Given the description of an element on the screen output the (x, y) to click on. 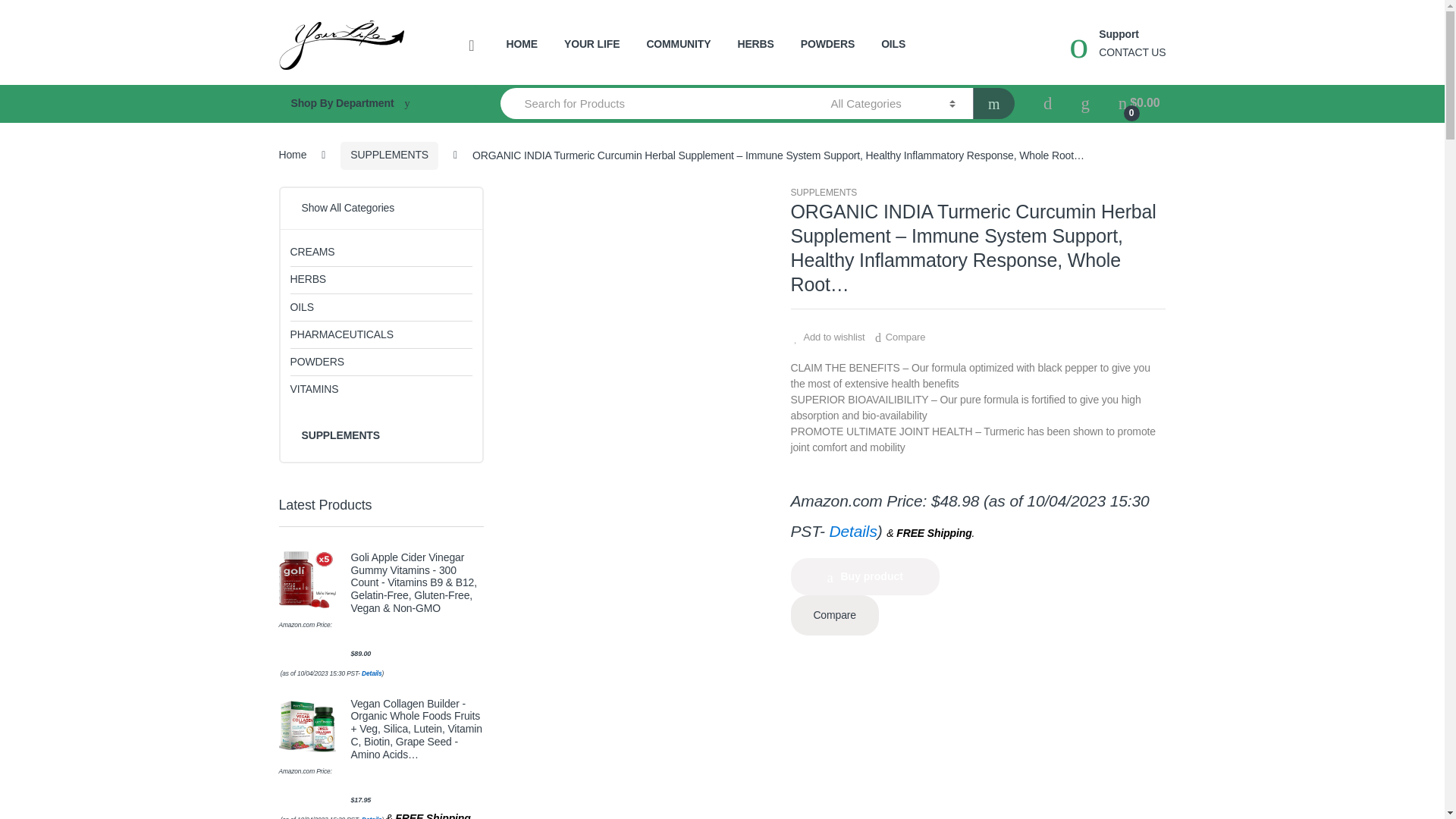
Shop By Department (375, 103)
HERBS (754, 44)
YOUR LIFE (592, 44)
POWDERS (827, 44)
COMMUNITY (678, 44)
HERBS (754, 44)
COMMUNITY (678, 44)
YOUR LIFE (592, 44)
HOME (521, 44)
HOME (521, 44)
